Given the description of an element on the screen output the (x, y) to click on. 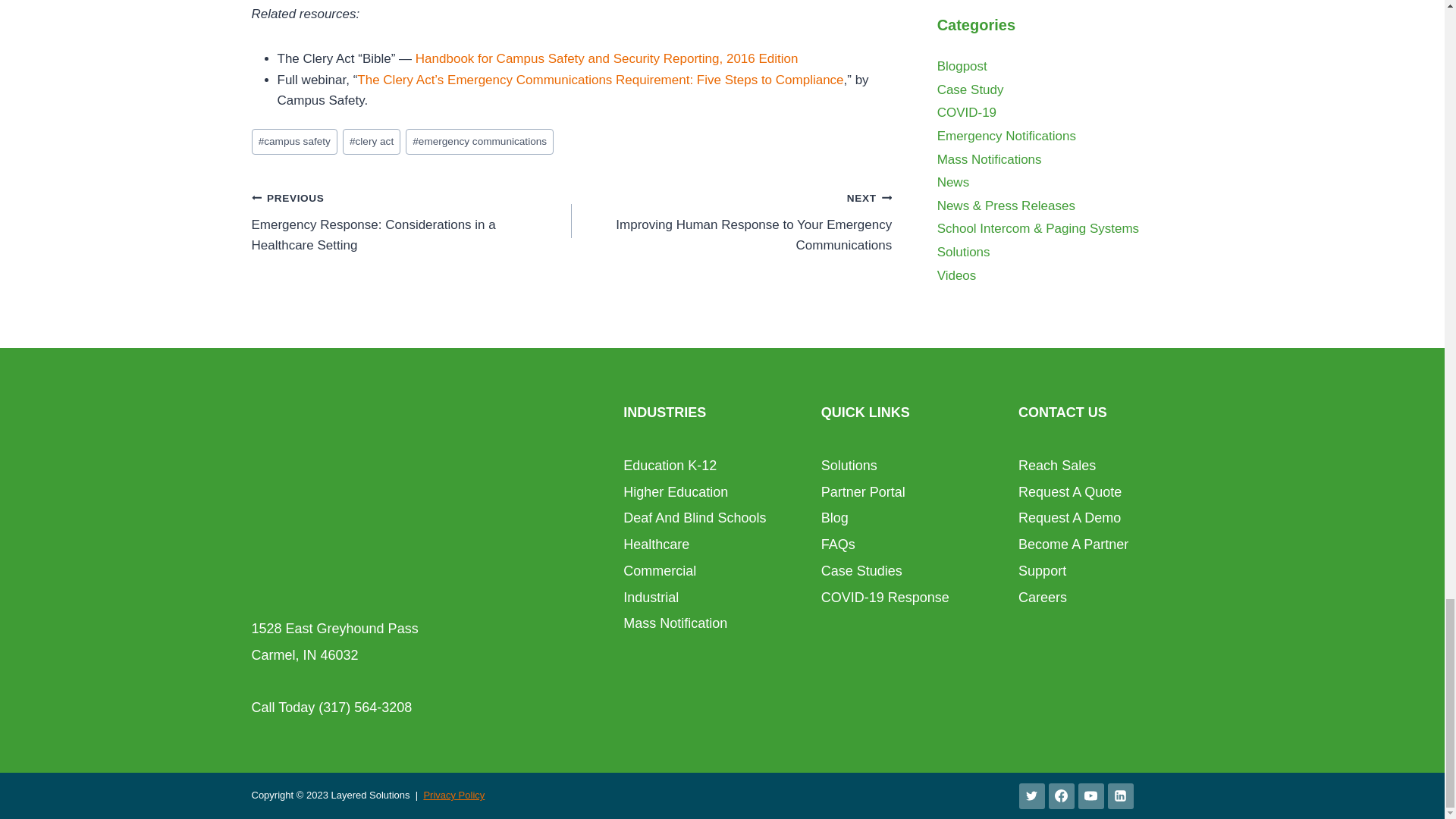
emergency communications (479, 141)
campus safety (294, 141)
clery act (371, 141)
